Given the description of an element on the screen output the (x, y) to click on. 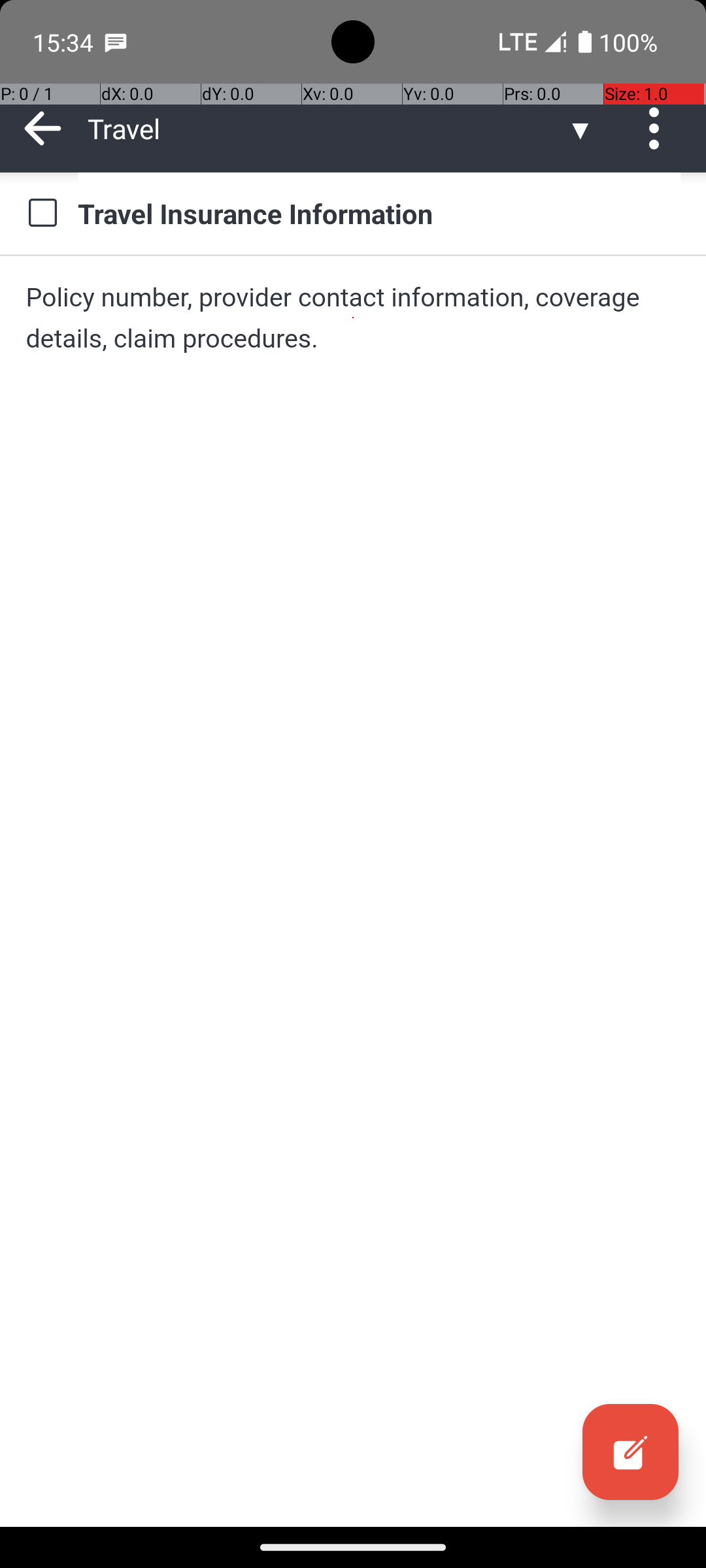
Travel Insurance Information Element type: android.widget.EditText (378, 213)
Policy number, provider contact information, coverage details, claim procedures. Element type: android.widget.TextView (352, 317)
